Given the description of an element on the screen output the (x, y) to click on. 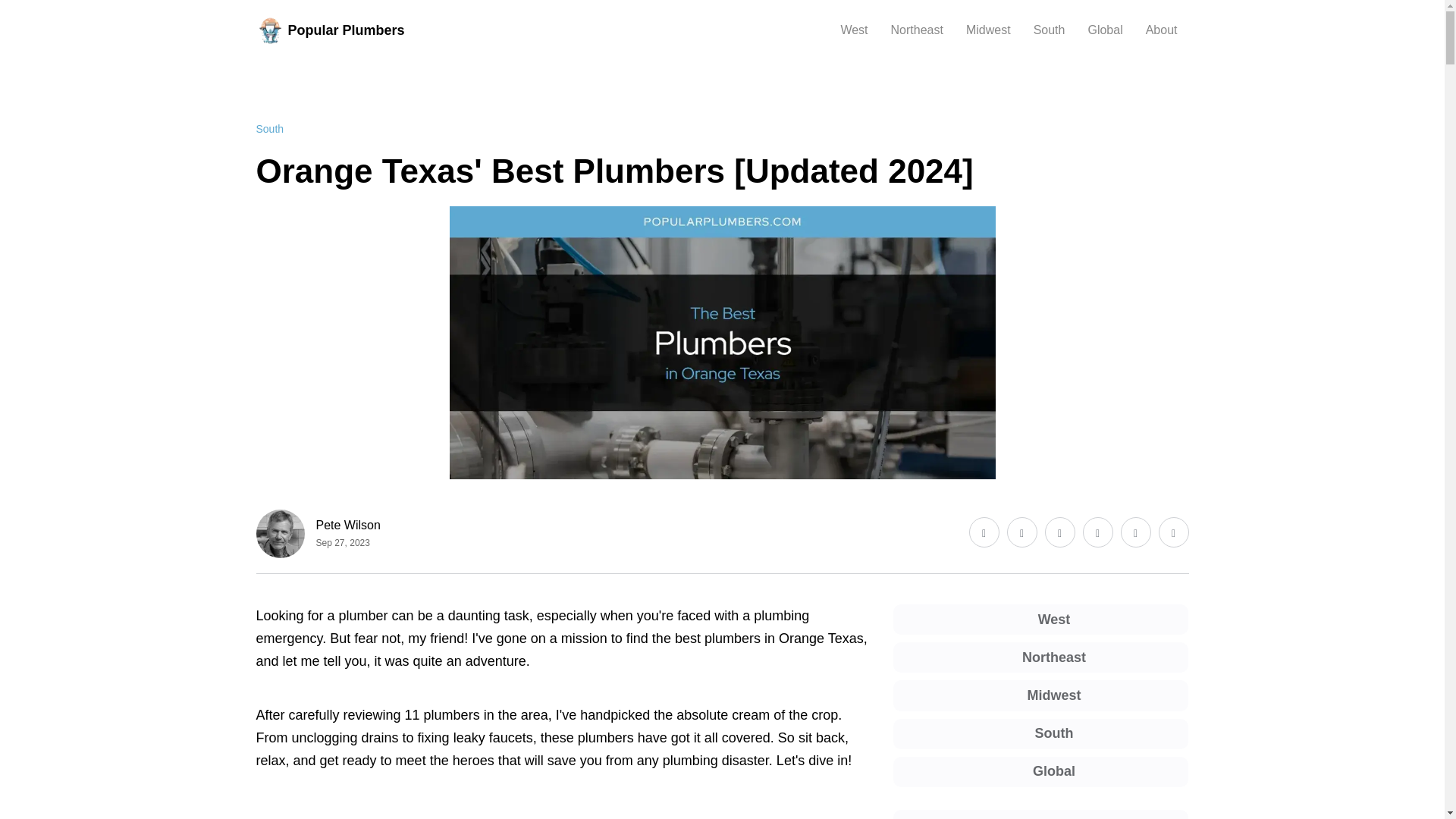
South (269, 128)
Popular Plumbers (330, 30)
Pete Wilson (347, 525)
